Given the description of an element on the screen output the (x, y) to click on. 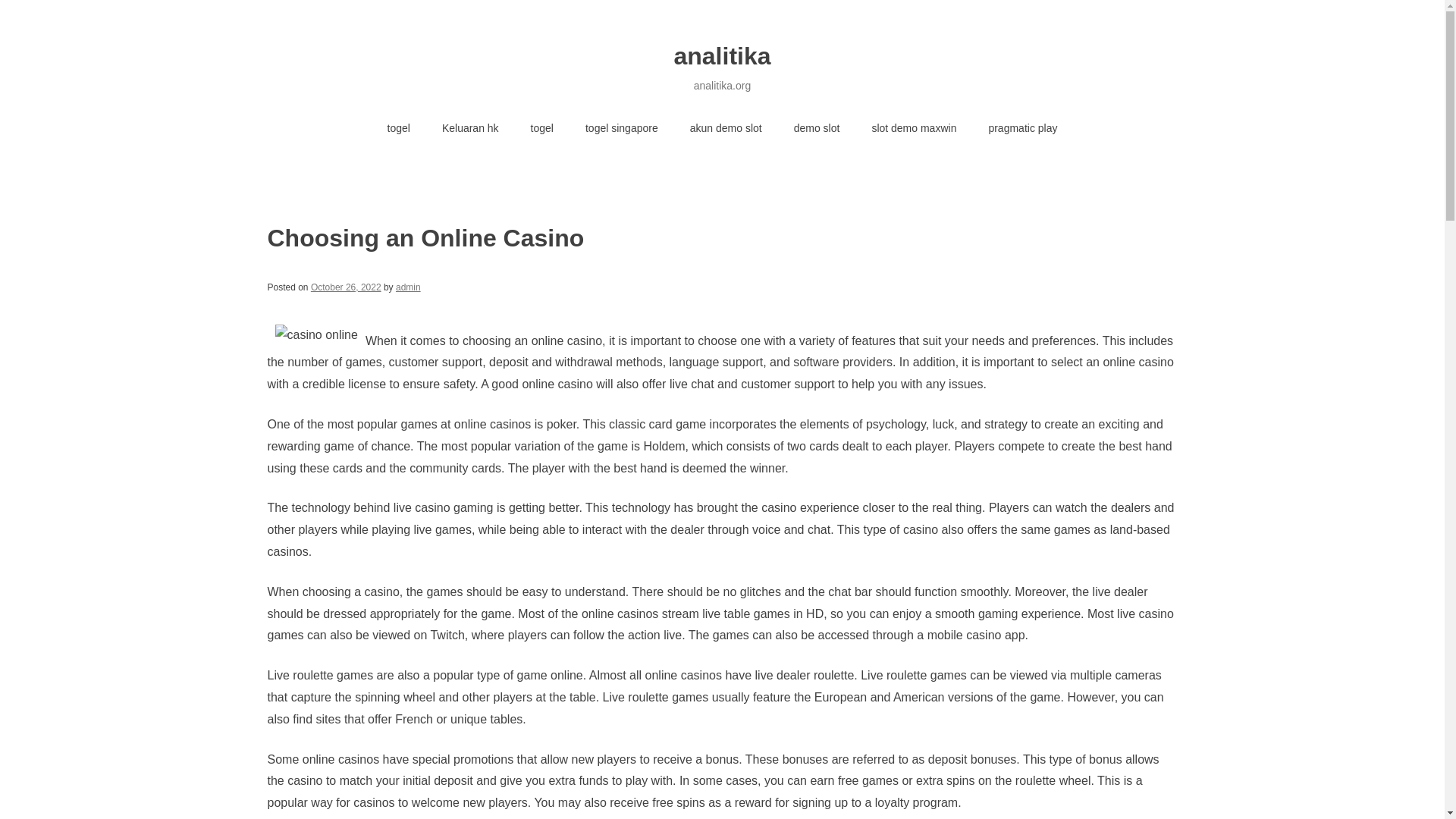
October 26, 2022 (346, 286)
togel (398, 128)
togel (542, 128)
admin (408, 286)
togel singapore (621, 128)
akun demo slot (725, 128)
analitika (721, 55)
demo slot (816, 128)
pragmatic play (1022, 128)
slot demo maxwin (914, 128)
